Given the description of an element on the screen output the (x, y) to click on. 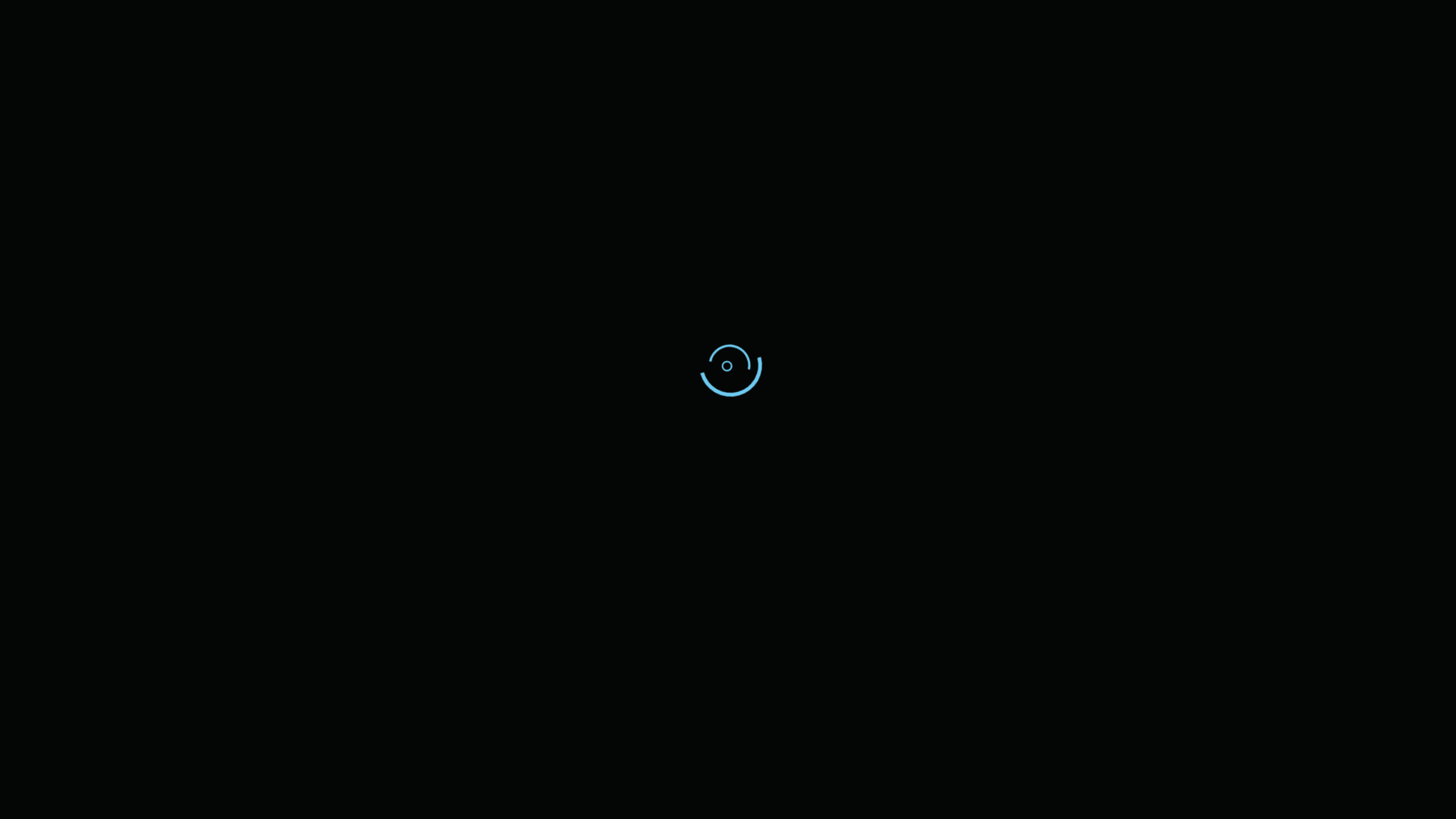
BACK TO HOME Element type: text (727, 460)
